Given the description of an element on the screen output the (x, y) to click on. 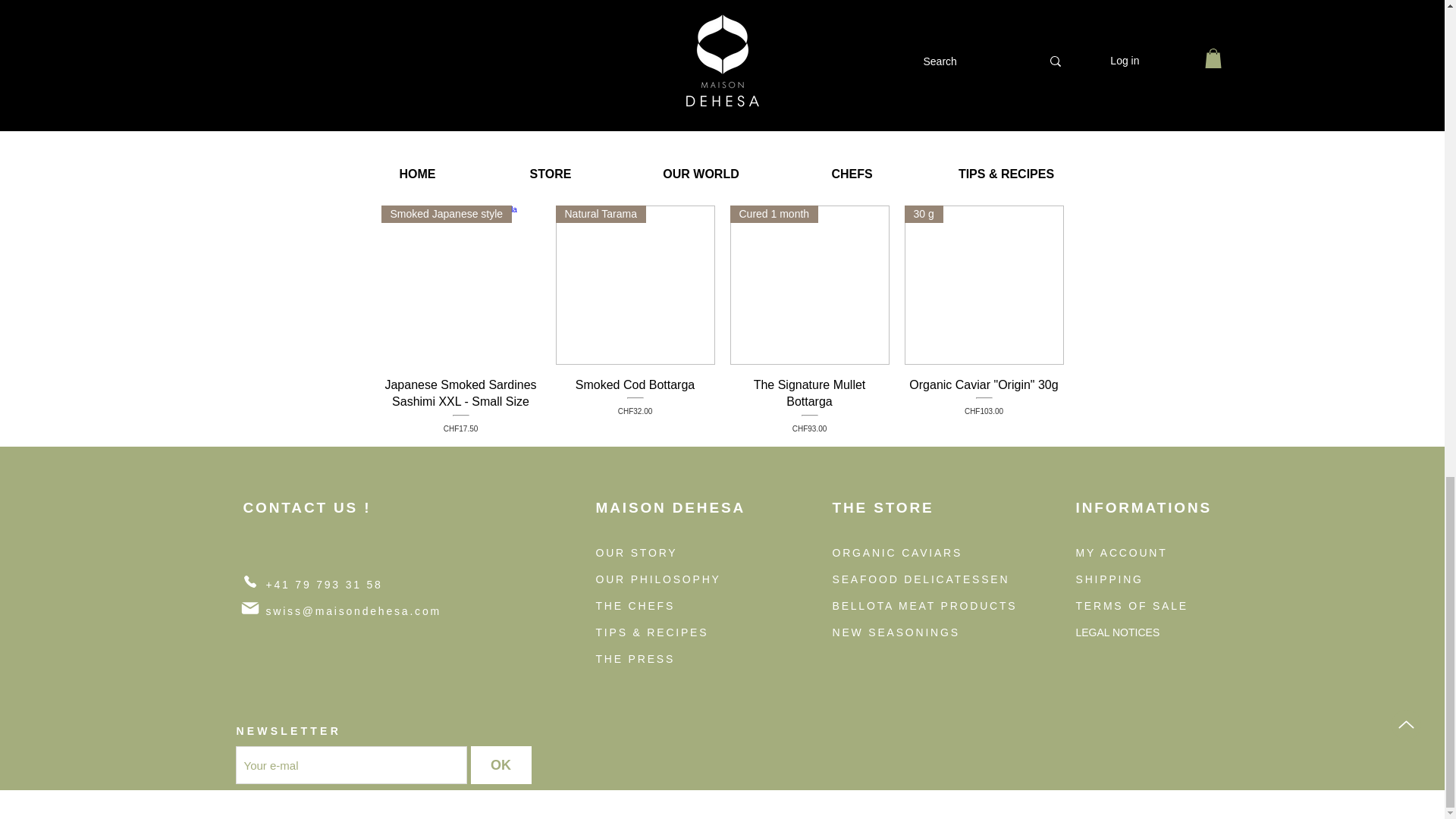
Smoked Japanese style (460, 284)
Natural Tarama (634, 284)
Cured 1 month (634, 405)
